Given the description of an element on the screen output the (x, y) to click on. 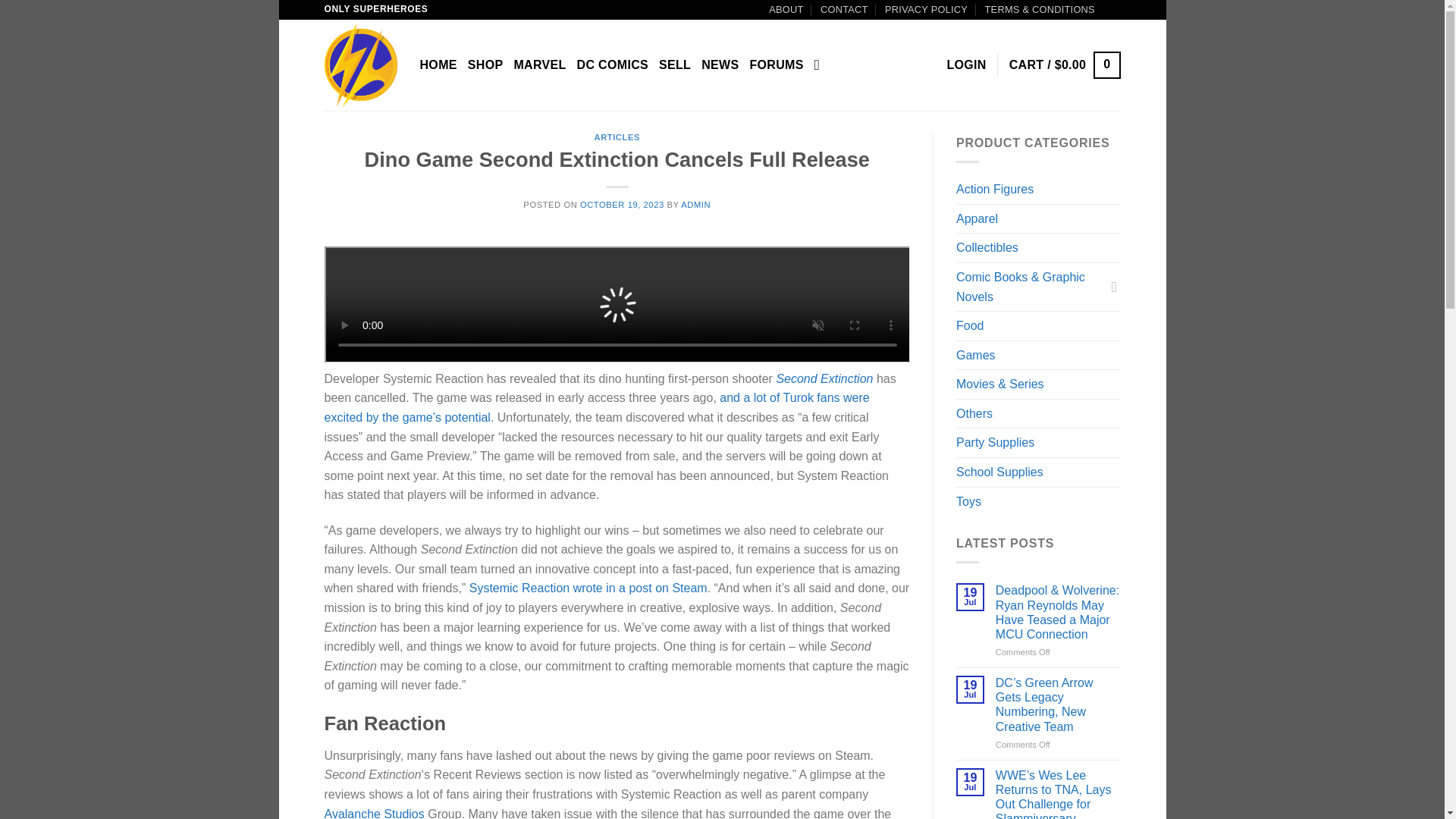
FORUMS (776, 64)
OCTOBER 19, 2023 (621, 204)
Avalanche Studios (374, 813)
Second Extinction (824, 378)
Systemic Reaction wrote in a post on Steam (587, 587)
ADMIN (695, 204)
MARVEL (539, 64)
NEWS (719, 64)
ARTICLES (617, 136)
CONTACT (844, 9)
SHOP (485, 64)
ABOUT (785, 9)
DC COMICS (611, 64)
HOME (438, 64)
SELL (674, 64)
